Given the description of an element on the screen output the (x, y) to click on. 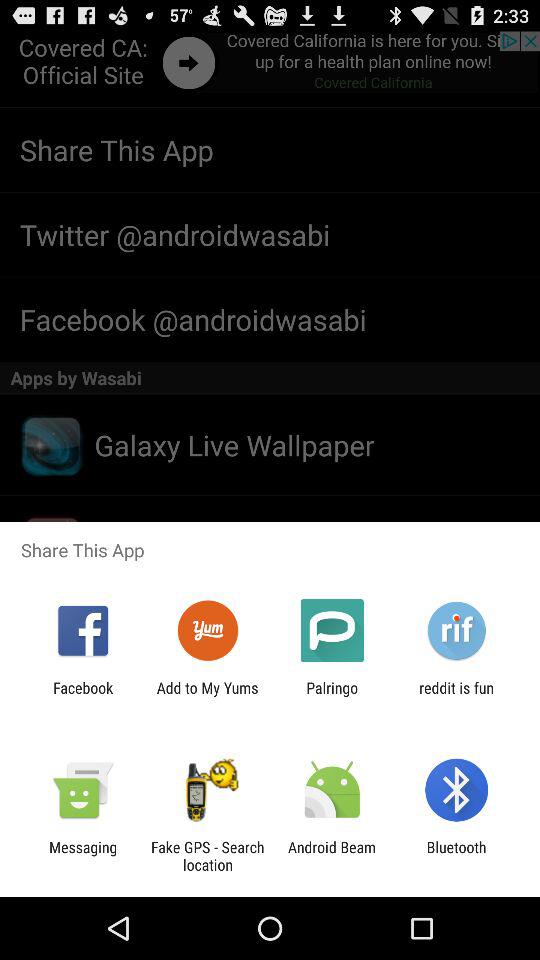
scroll until reddit is fun item (456, 696)
